Given the description of an element on the screen output the (x, y) to click on. 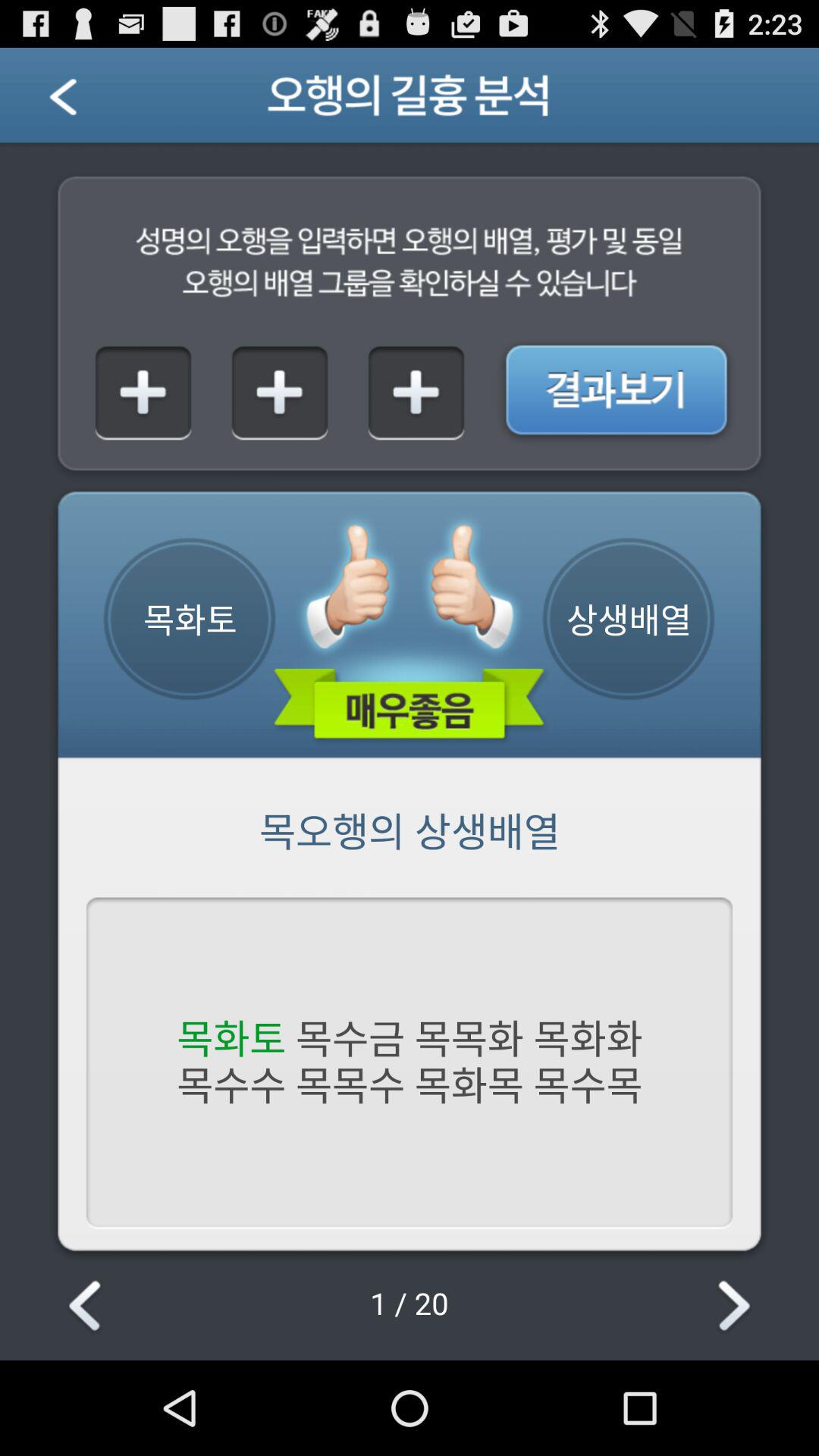
go to previous (87, 1307)
